Given the description of an element on the screen output the (x, y) to click on. 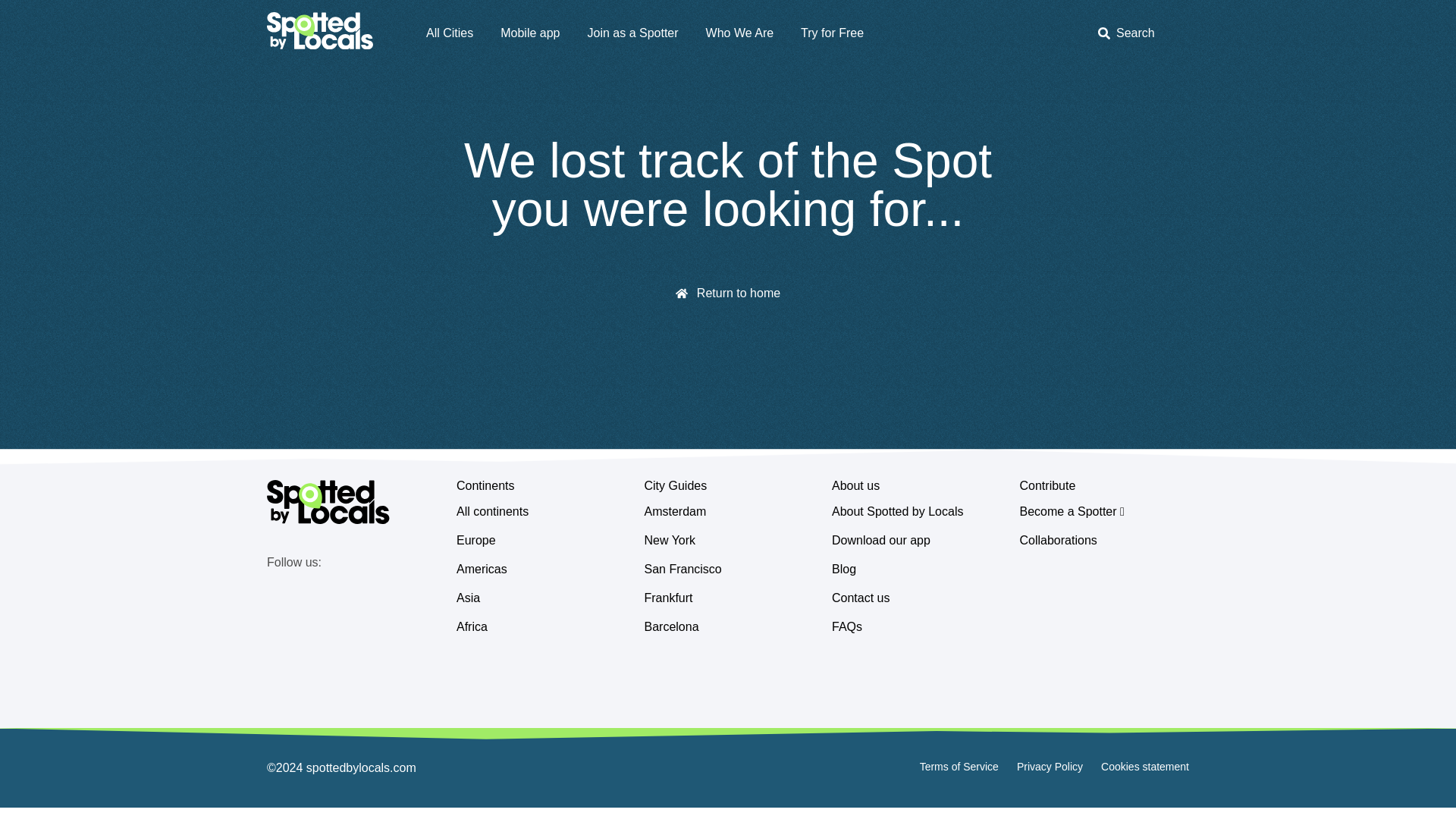
Who We Are (740, 33)
Try for Free (831, 33)
Join as a Spotter (633, 33)
All Cities (449, 33)
Mobile app (529, 33)
Return to home (727, 294)
